Given the description of an element on the screen output the (x, y) to click on. 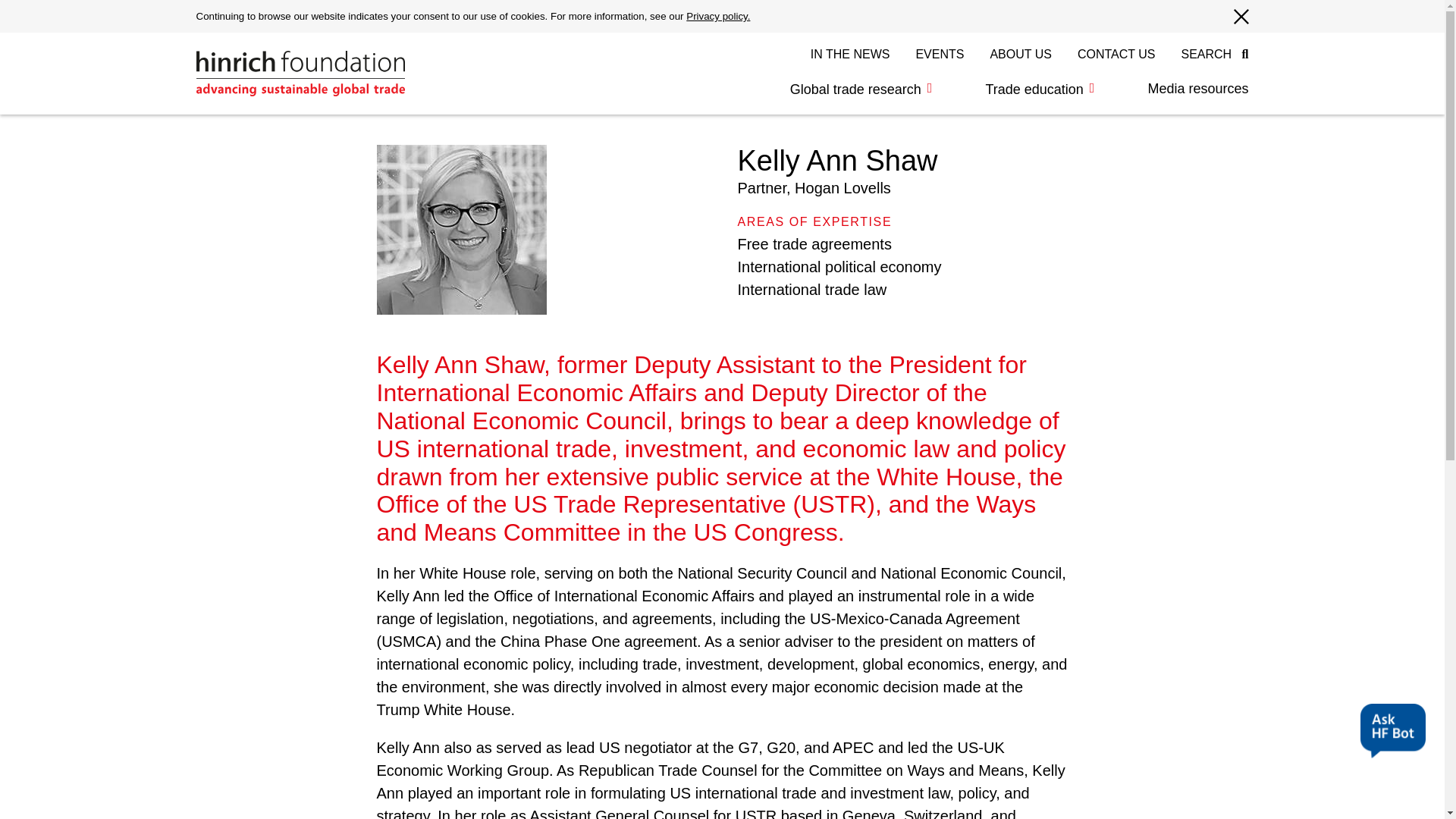
Global trade research (860, 89)
Privacy policy. (717, 16)
Trade education (1039, 89)
Media resources (1184, 88)
Privacy policy (717, 16)
